Given the description of an element on the screen output the (x, y) to click on. 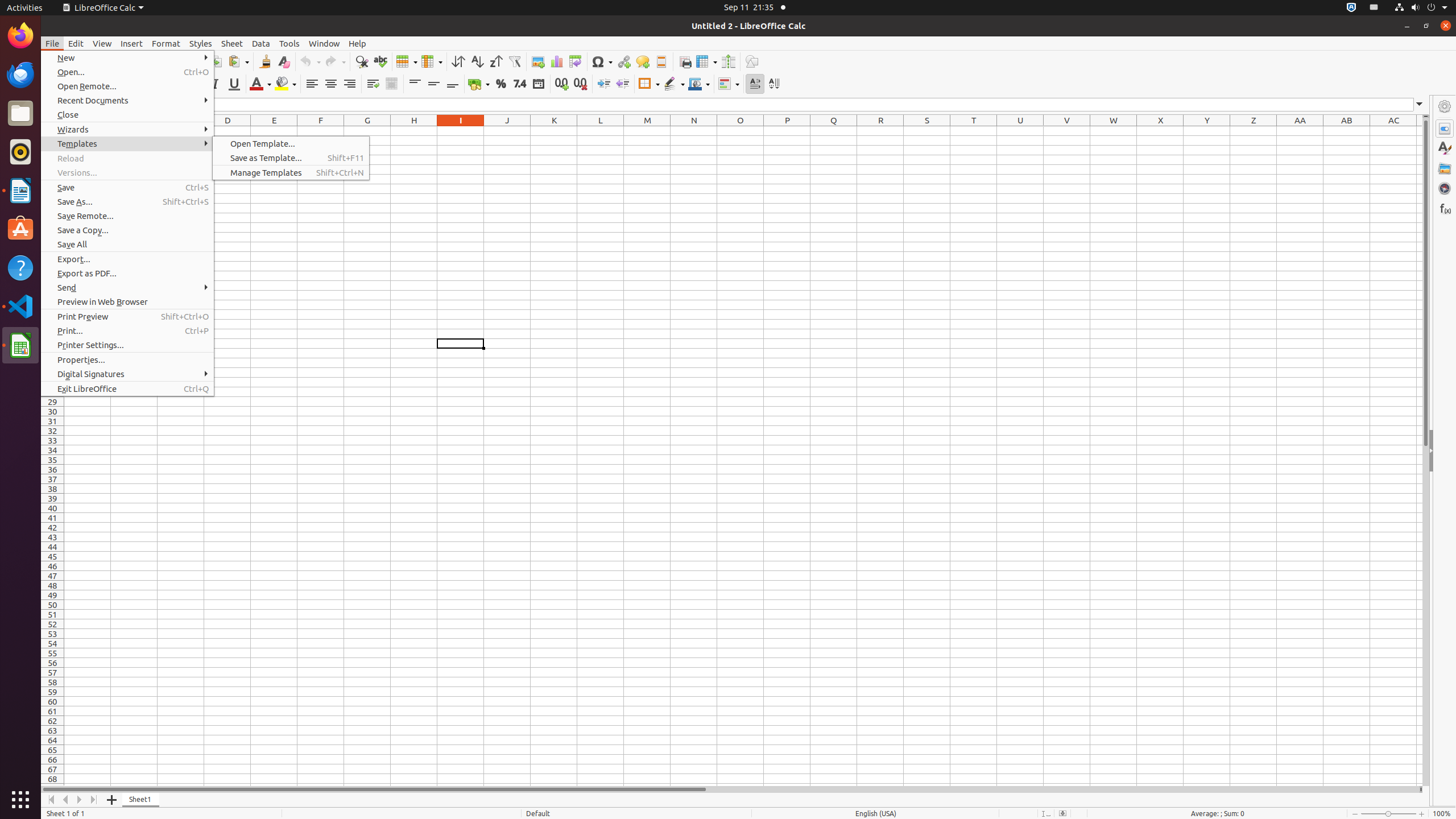
Draw Functions Element type: toggle-button (751, 61)
File Element type: menu (51, 43)
AC1 Element type: table-cell (1393, 130)
Row Element type: push-button (406, 61)
Save as Template... Element type: menu-item (290, 157)
